Given the description of an element on the screen output the (x, y) to click on. 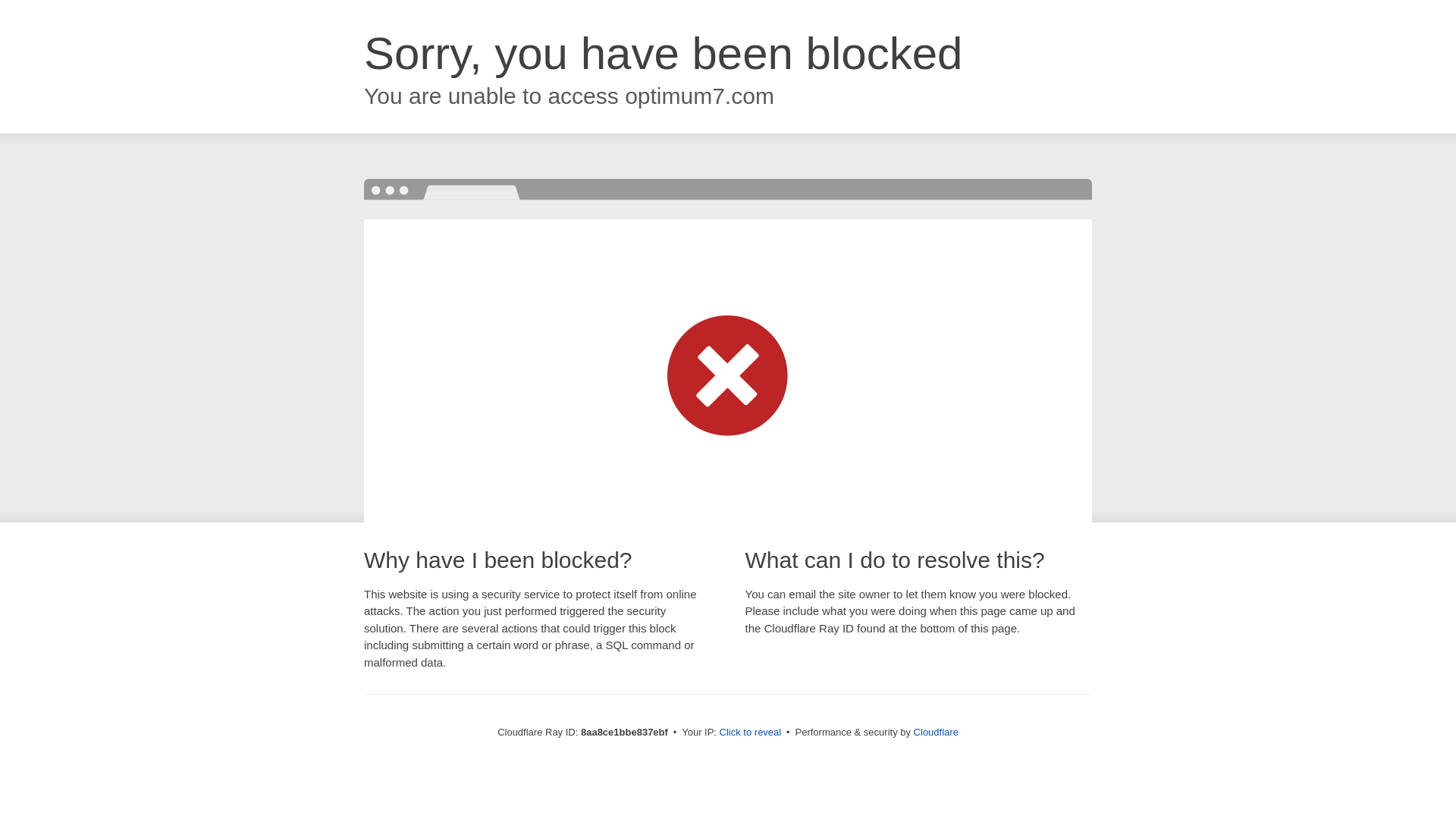
Click to reveal (750, 732)
Cloudflare (936, 731)
